Given the description of an element on the screen output the (x, y) to click on. 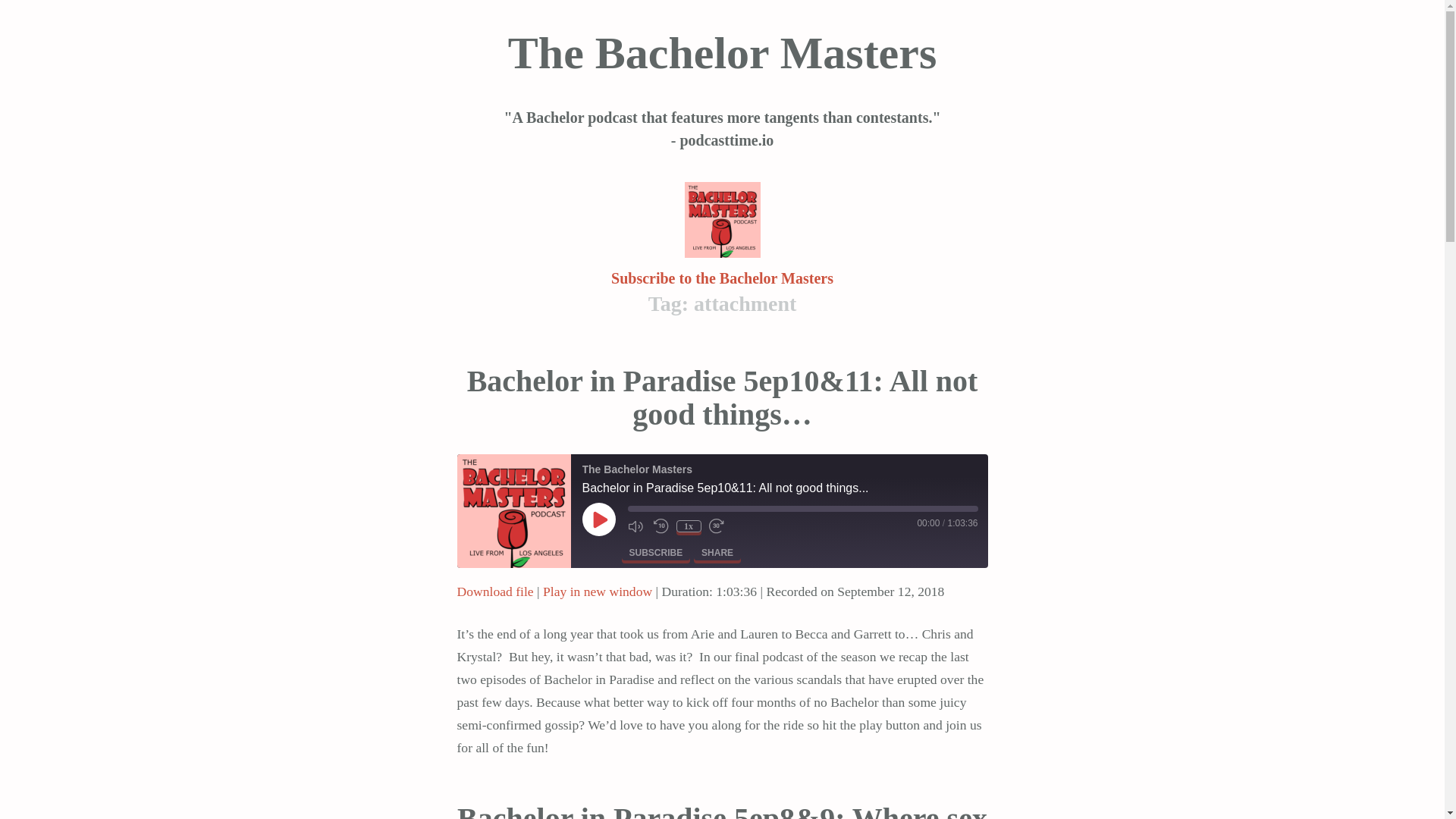
Play in new window (597, 591)
Playback Speed (689, 526)
Subscribe (655, 552)
SHARE (717, 552)
1x (689, 526)
Download file (494, 591)
play episode (598, 519)
fast forward 30 seconds (716, 525)
rewind 10 seconds (660, 525)
Rewind 10 seconds (660, 525)
Seek (802, 508)
The Bachelor Masters (513, 511)
Subscribe to the Bachelor Masters (721, 278)
SUBSCRIBE (655, 552)
Play (598, 519)
